Given the description of an element on the screen output the (x, y) to click on. 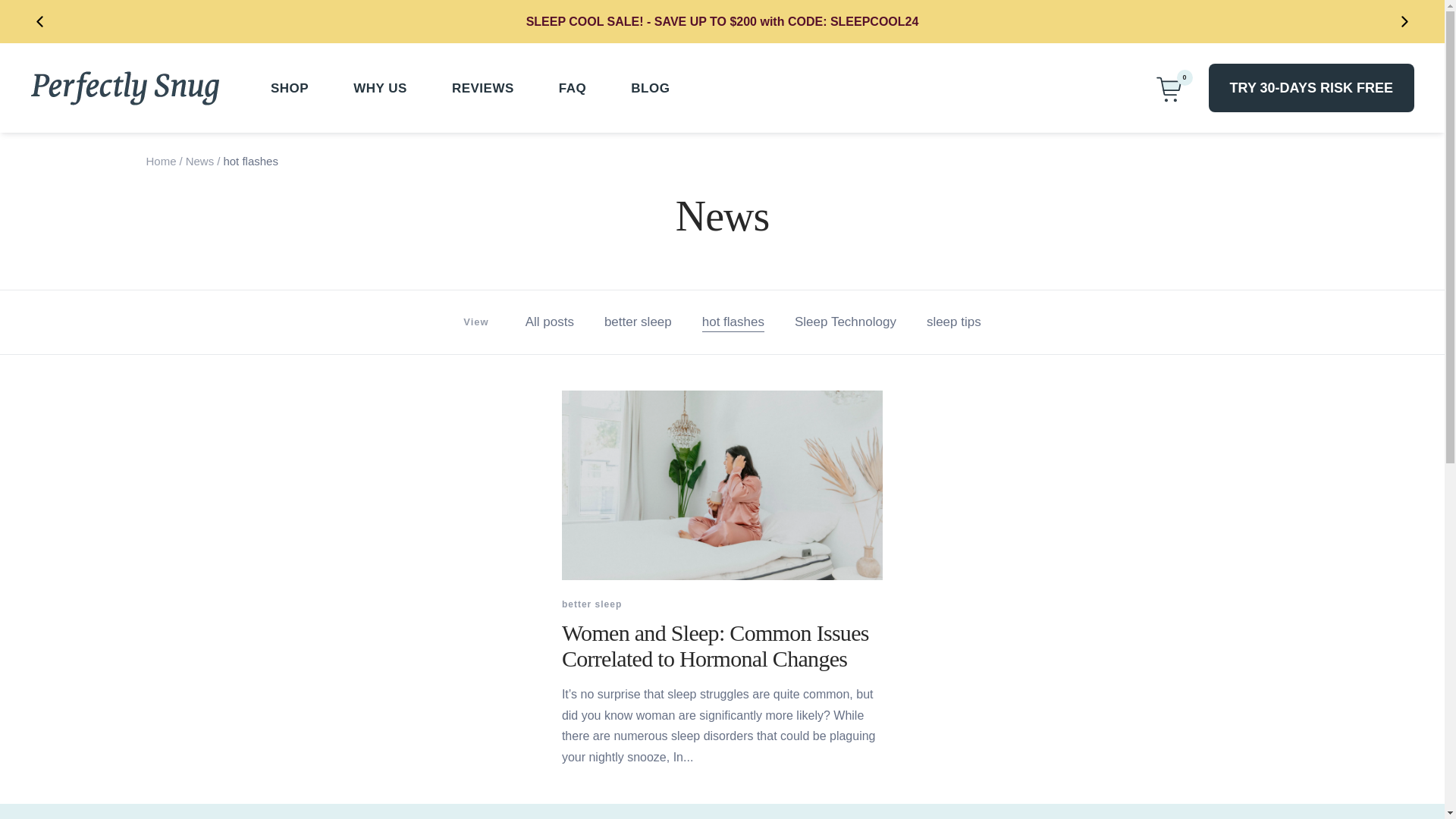
better sleep (591, 604)
Show articles tagged Sleep Technology (845, 321)
Show articles tagged better sleep (637, 321)
Show articles tagged sleep tips (953, 321)
Sleep Technology (845, 321)
TRY 30-DAYS RISK FREE (1310, 87)
WHY US (380, 87)
Previous (39, 21)
